Given the description of an element on the screen output the (x, y) to click on. 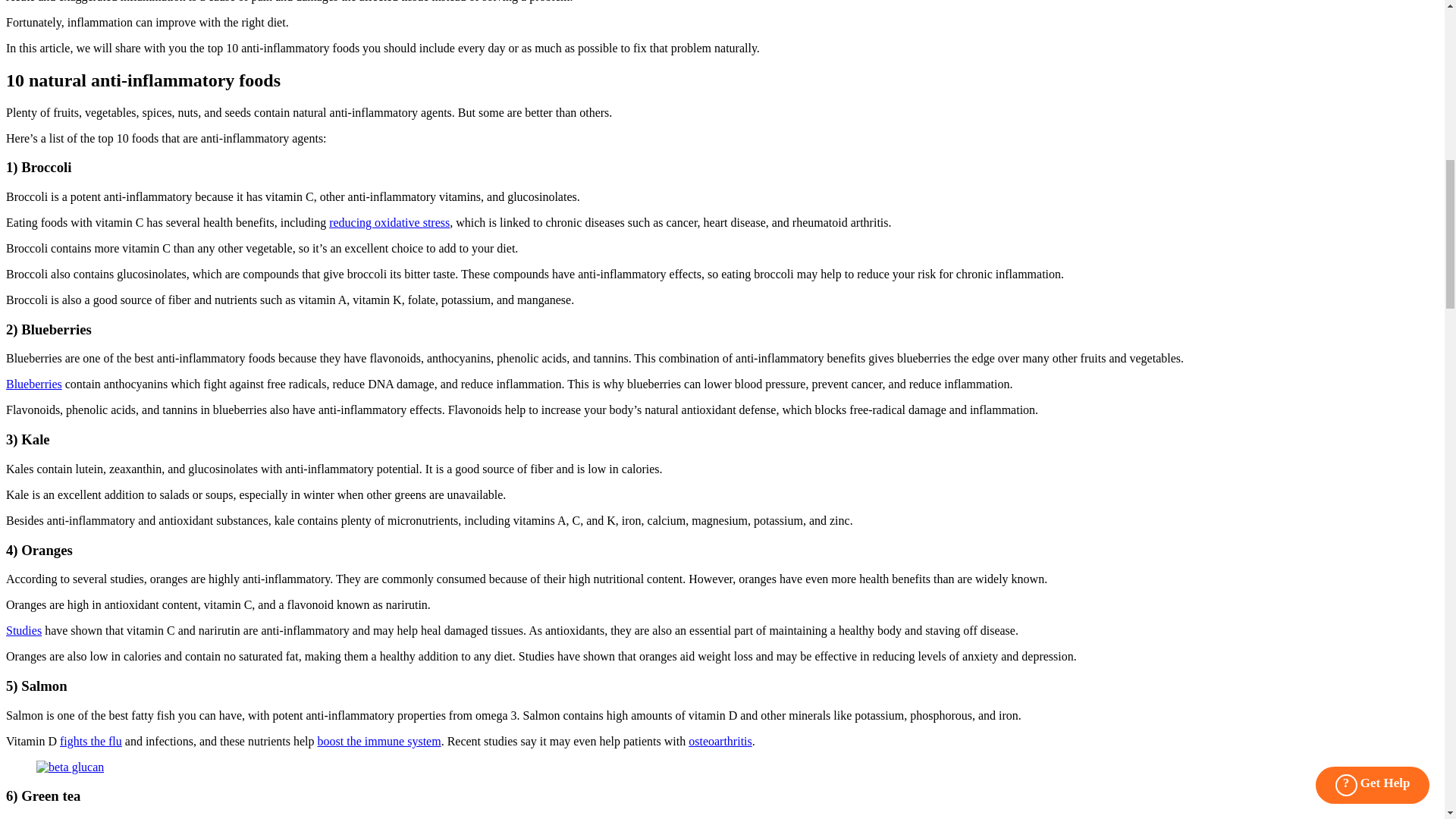
Blueberries (33, 383)
boost the immune system (379, 740)
Studies (23, 630)
fights the flu (90, 740)
osteoarthritis (720, 740)
reducing oxidative stress (389, 222)
